Given the description of an element on the screen output the (x, y) to click on. 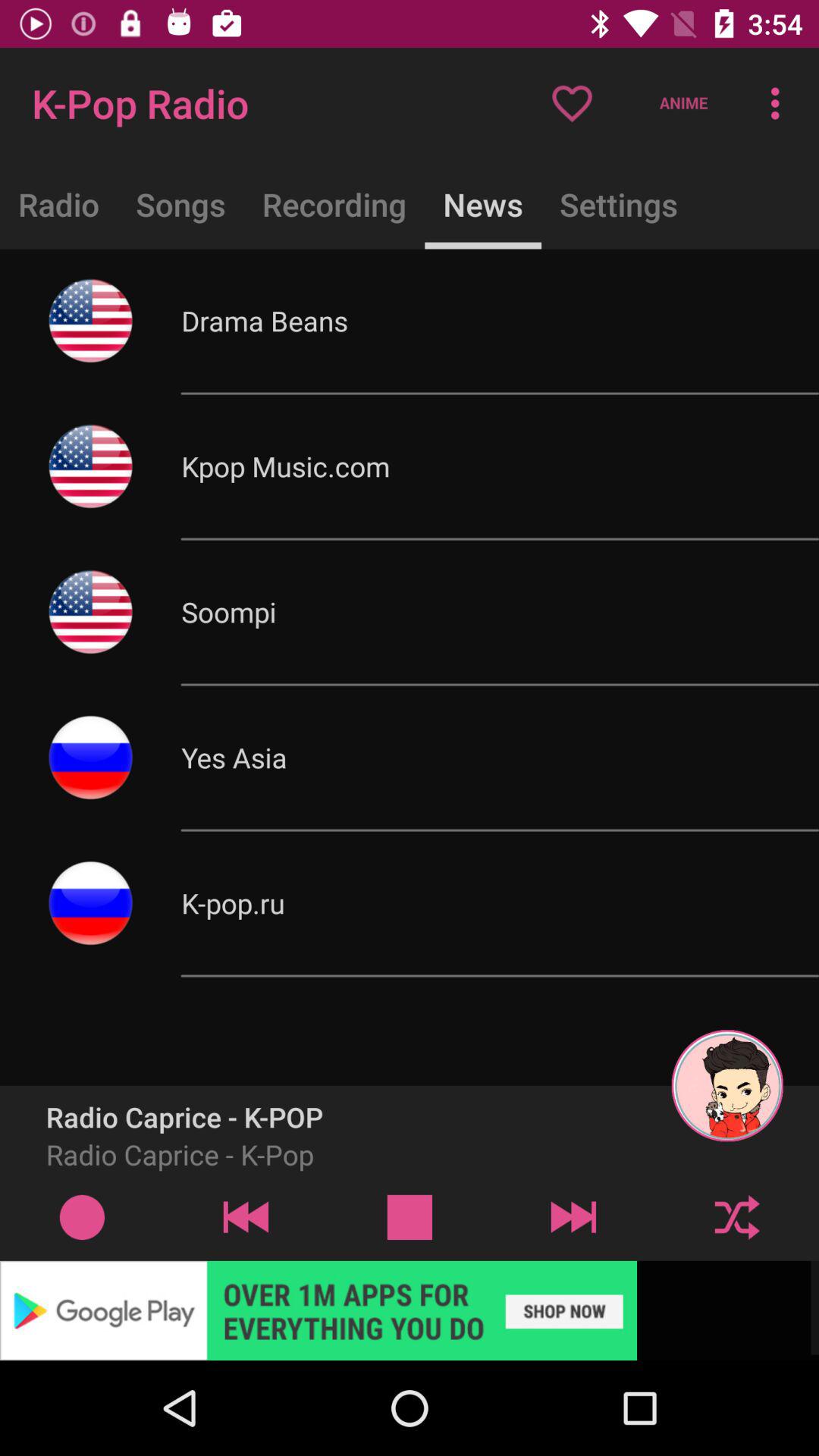
go to advertisement (409, 1310)
